Given the description of an element on the screen output the (x, y) to click on. 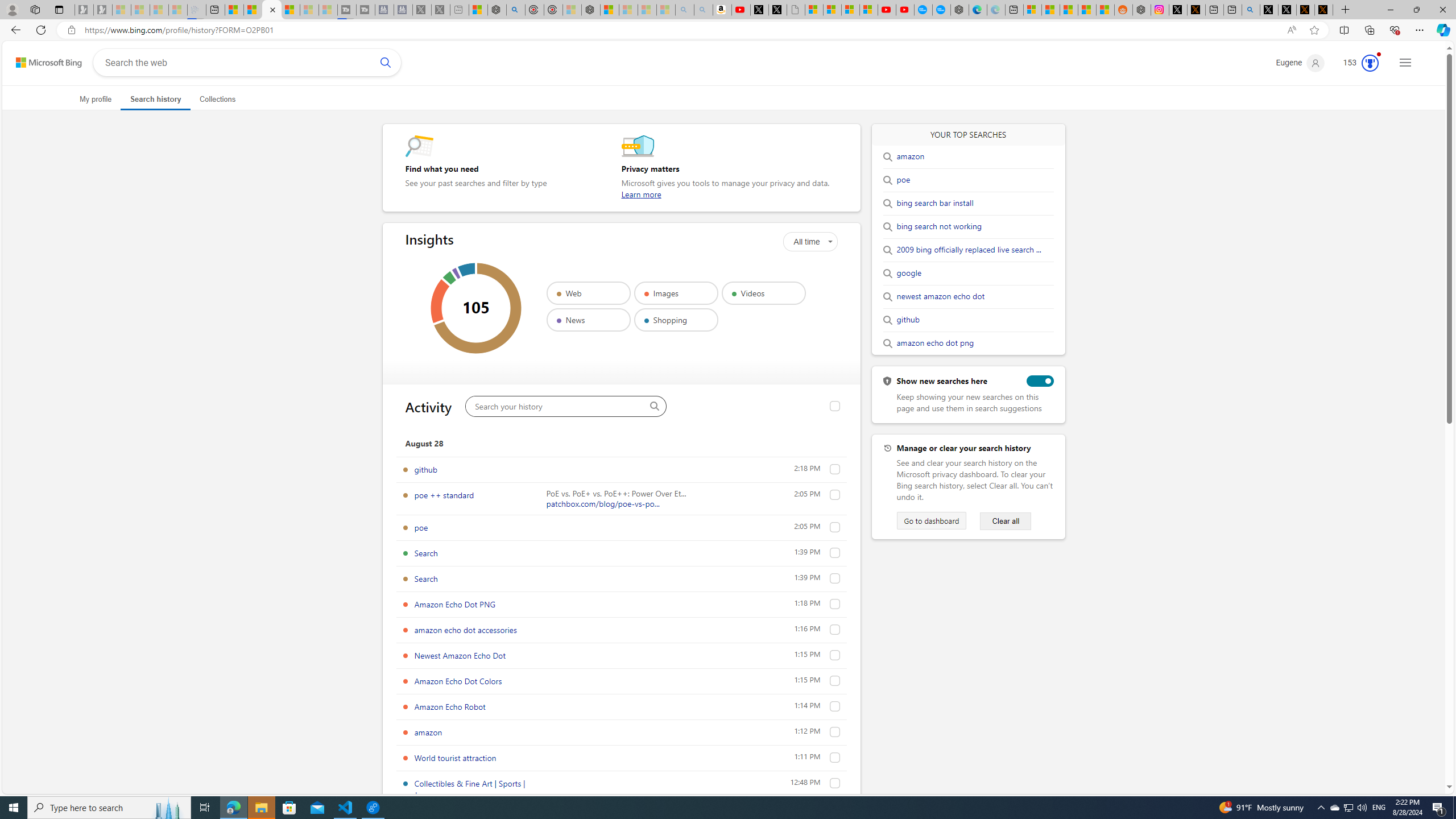
Class: dropdown__chevron (829, 241)
newest amazon echo dot (940, 296)
YouTube Kids - An App Created for Kids to Explore Content (904, 9)
Class: medal-circled (1369, 63)
X Privacy Policy (1324, 9)
Day 1: Arriving in Yemen (surreal to be here) - YouTube (740, 9)
Search history (155, 99)
